Given the description of an element on the screen output the (x, y) to click on. 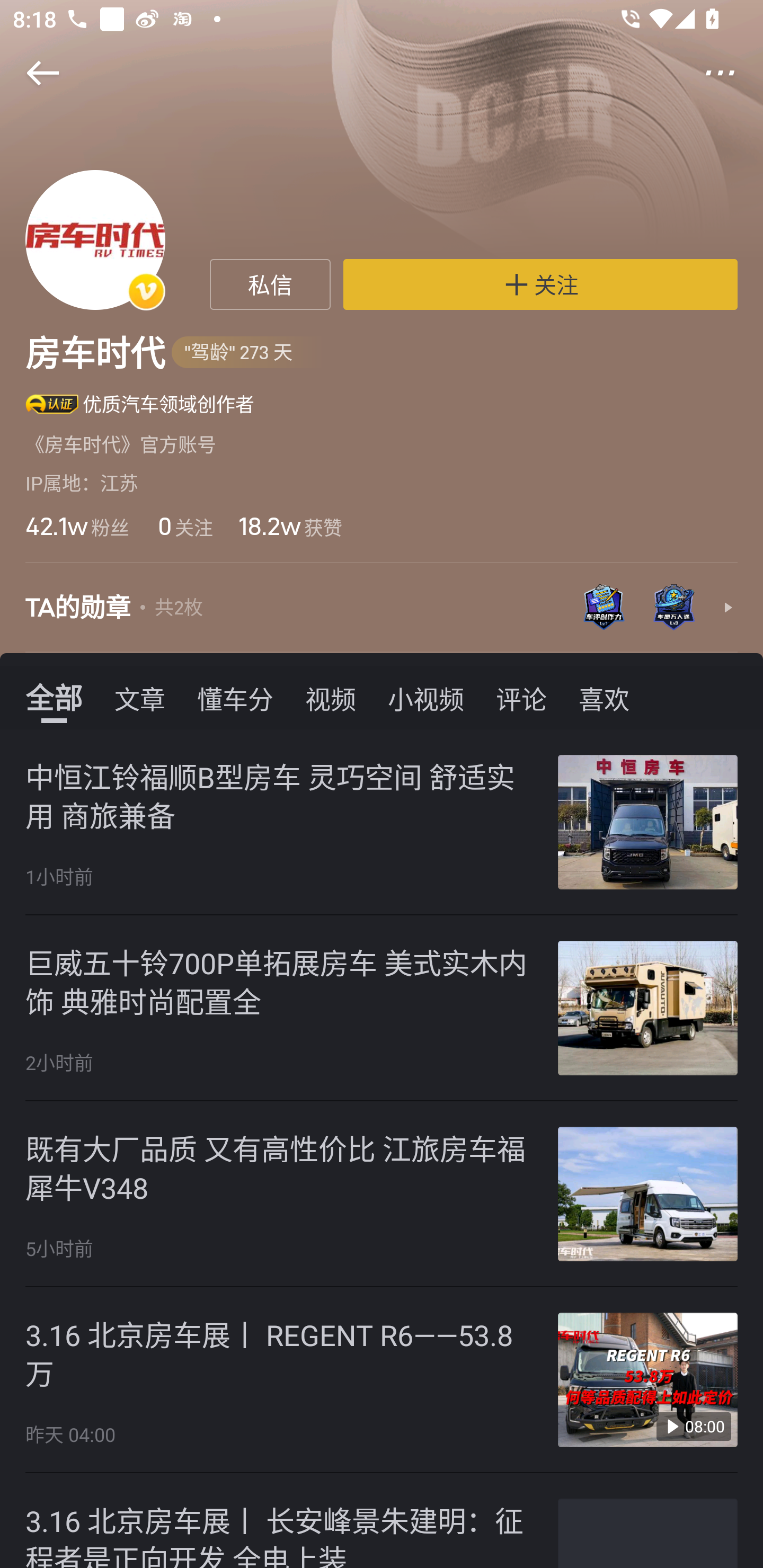
 (30, 72)
 (732, 72)
私信 (269, 284)
 关注 (540, 284)
"驾龄" 273 天 (248, 352)
42.1w 粉丝 (76, 526)
0 关注 (183, 526)
18.2w 获赞 (290, 526)
TA的勋章 共2枚  (381, 607)
全部 (53, 697)
文章 (139, 697)
懂车分 (234, 697)
视频 (330, 697)
小视频 (425, 697)
评论 (521, 697)
喜欢 (603, 697)
中恒江铃福顺B型房车 灵巧空间 舒适实用 商旅兼备 1小时前 (381, 822)
巨威五十铃700P单拓展房车 美式实木内饰 典雅时尚配置全 2小时前 (381, 1007)
既有大厂品质 又有高性价比 江旅房车福犀牛V348 5小时前 (381, 1193)
3.16 北京房车展丨 REGENT R6——53.8万 昨天 04:00  08:00 (381, 1380)
